Given the description of an element on the screen output the (x, y) to click on. 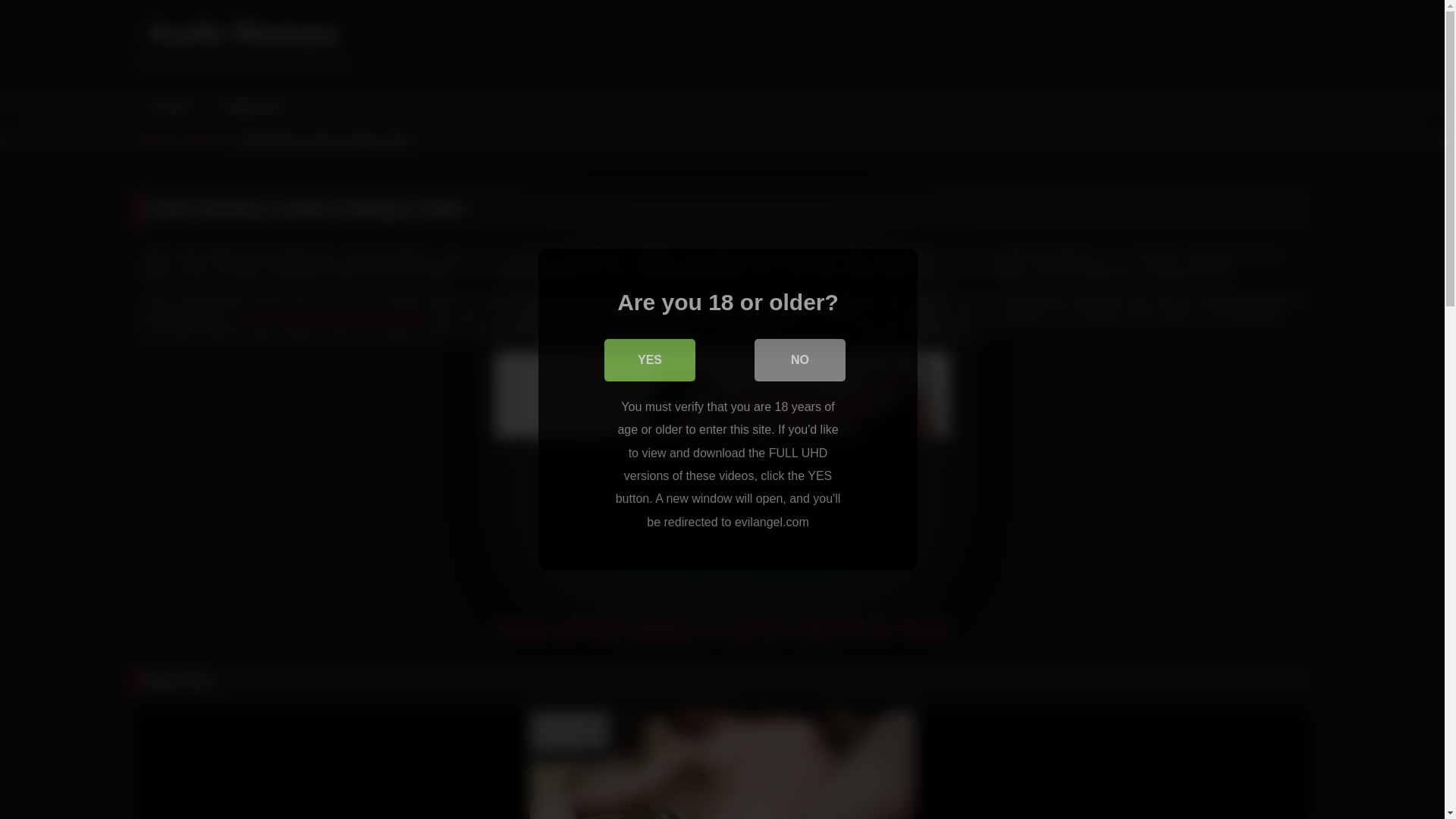
Karlie Sucking Mick Blue (1113, 765)
NO (799, 360)
shove her tongue deep into that butt hole (332, 316)
Karlie Sucking Mick Blue (1113, 765)
sapphic vids (821, 333)
Home (169, 108)
Check out Karlie getting her asshole licked by her hot gf! (722, 629)
Home (155, 138)
Karlie Montana (235, 32)
Karlie and Lisa A Daniels from Hustler (721, 765)
